Given the description of an element on the screen output the (x, y) to click on. 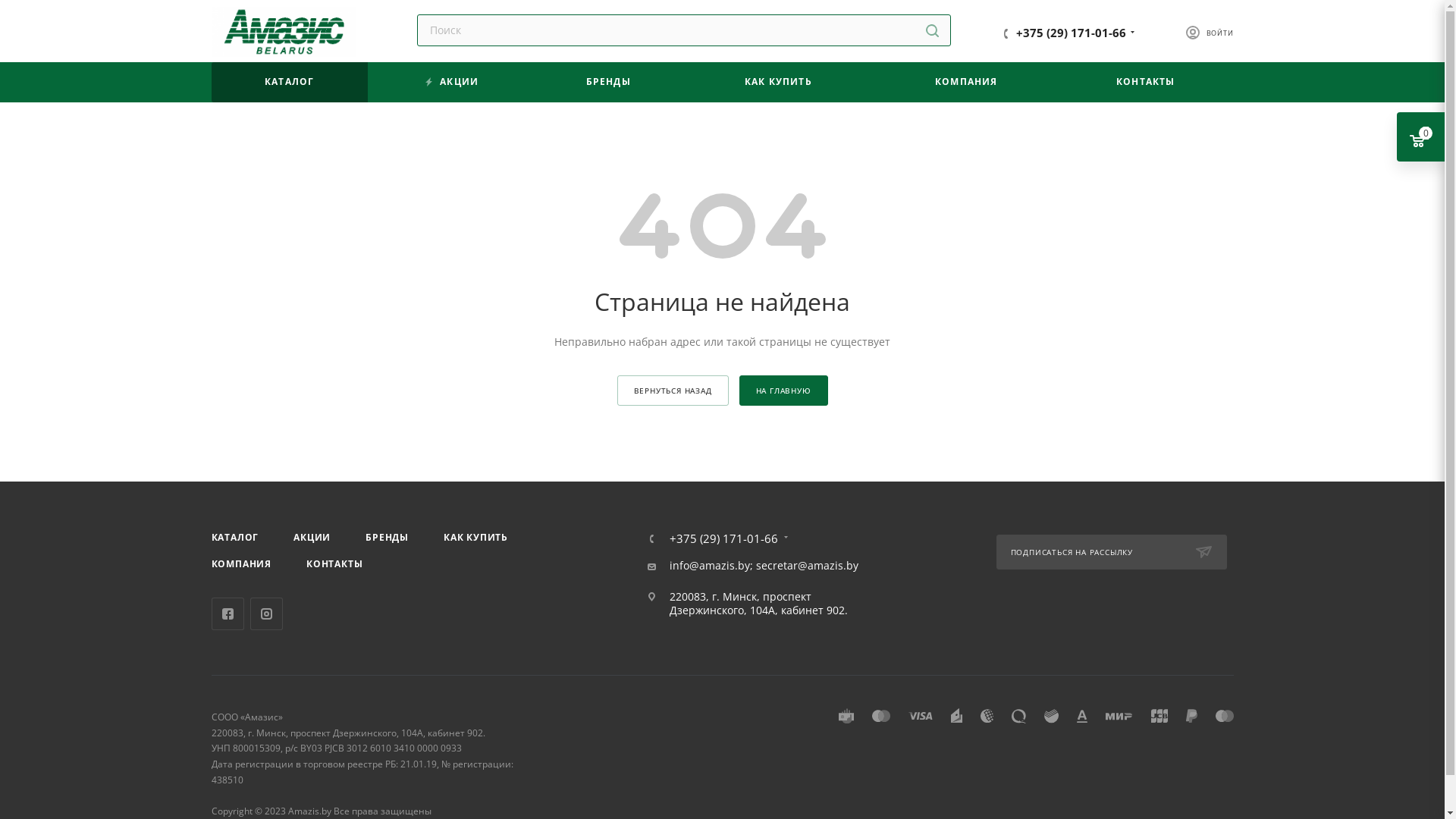
Facebook Element type: text (226, 613)
Visa Element type: hover (920, 715)
+375 (29) 171-01-66 Element type: text (722, 538)
secretar@amazis.by Element type: text (806, 565)
Instagram Element type: text (266, 613)
+375 (29) 171-01-66 Element type: text (1071, 32)
PayPal Element type: hover (1191, 715)
Yandex Element type: hover (956, 715)
Jcb Element type: hover (1159, 715)
Maestro Element type: hover (1223, 715)
Qiwi Element type: hover (1018, 715)
Sberbank Element type: hover (1050, 715)
Cash Element type: hover (845, 715)
Alfa Element type: hover (1081, 715)
Mir Element type: hover (1118, 715)
MasterCard Element type: hover (881, 715)
WebMoney Element type: hover (985, 715)
info@amazis.by Element type: text (708, 565)
